Given the description of an element on the screen output the (x, y) to click on. 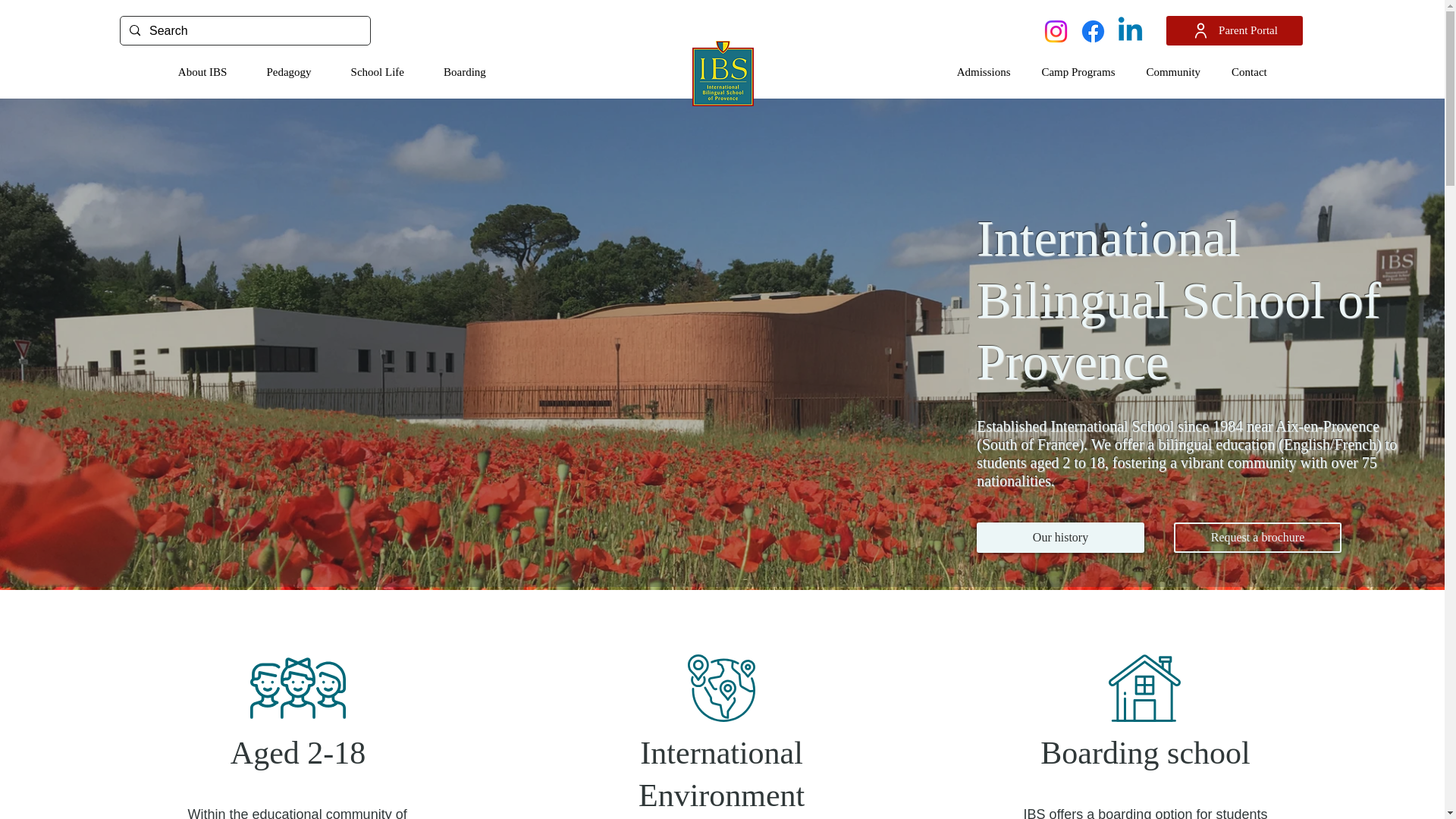
Parent Portal (1234, 30)
